Given the description of an element on the screen output the (x, y) to click on. 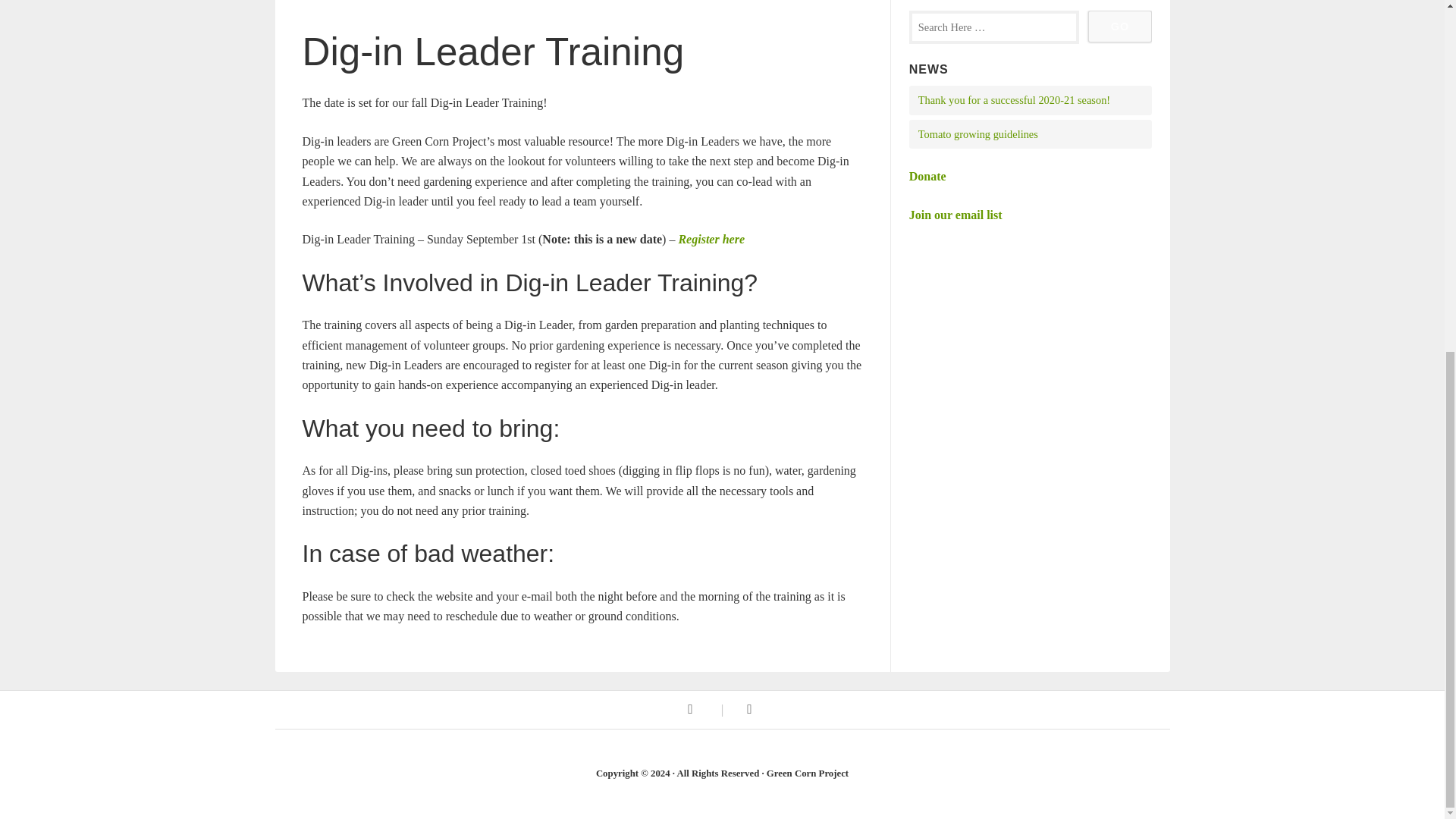
Thank you for a successful 2020-21 season! (1013, 100)
Go (1119, 26)
Donate (927, 175)
Register here (711, 238)
Join our email list (955, 214)
Go (1119, 26)
Tomato growing guidelines (978, 133)
